Given the description of an element on the screen output the (x, y) to click on. 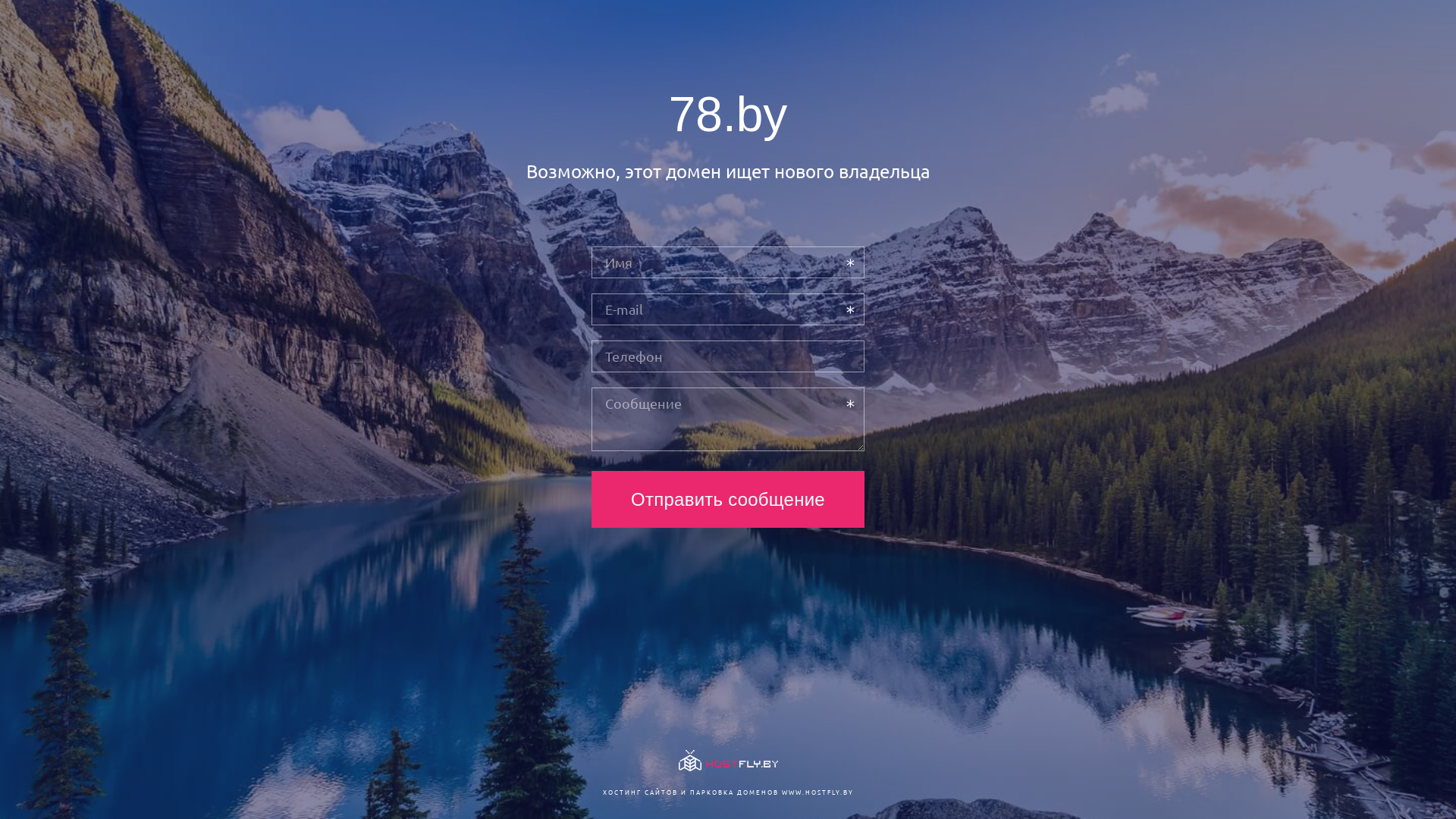
WWW.HOSTFLY.BY Element type: text (817, 791)
